Given the description of an element on the screen output the (x, y) to click on. 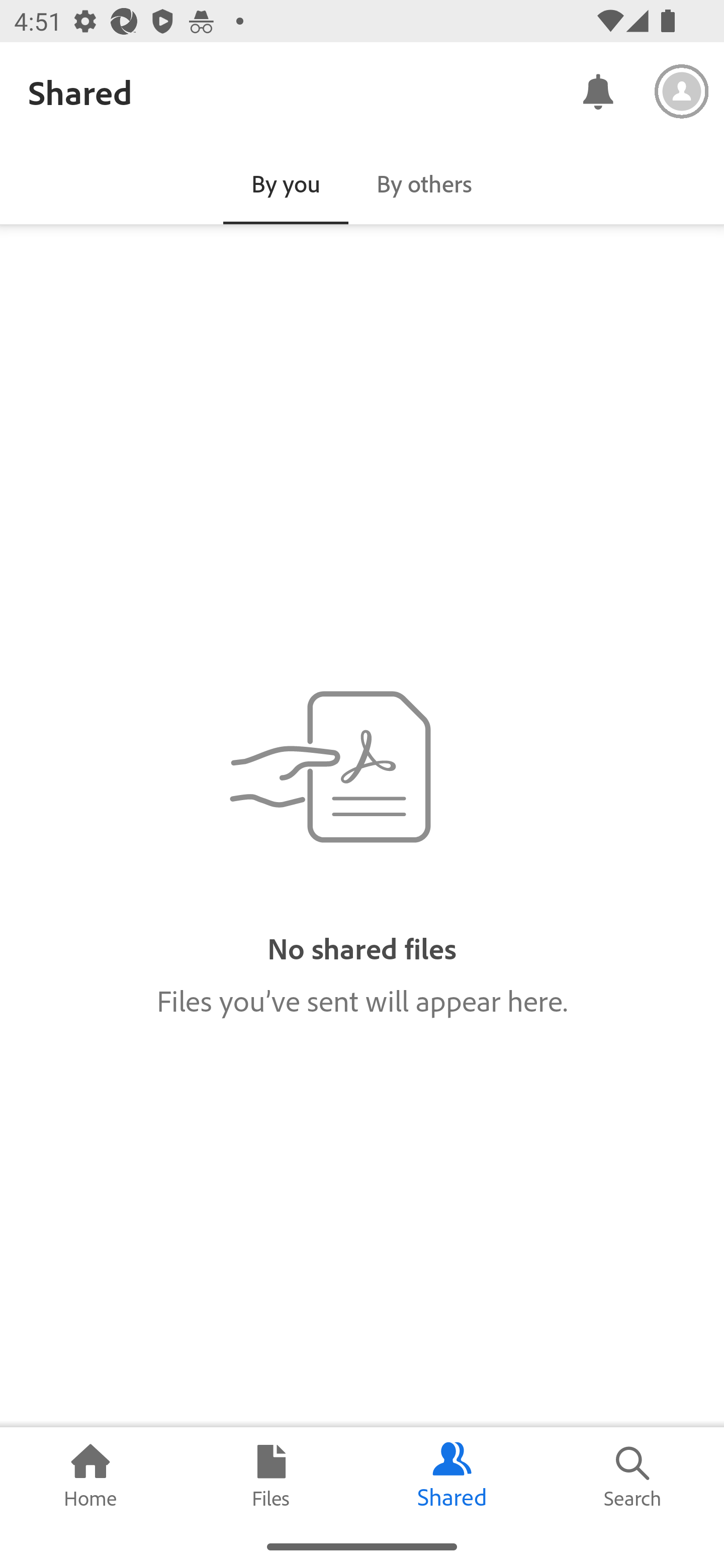
Notifications (597, 90)
Settings (681, 91)
By you (285, 183)
By others (424, 183)
Home (90, 1475)
Files (271, 1475)
Shared (452, 1475)
Search (633, 1475)
